Given the description of an element on the screen output the (x, y) to click on. 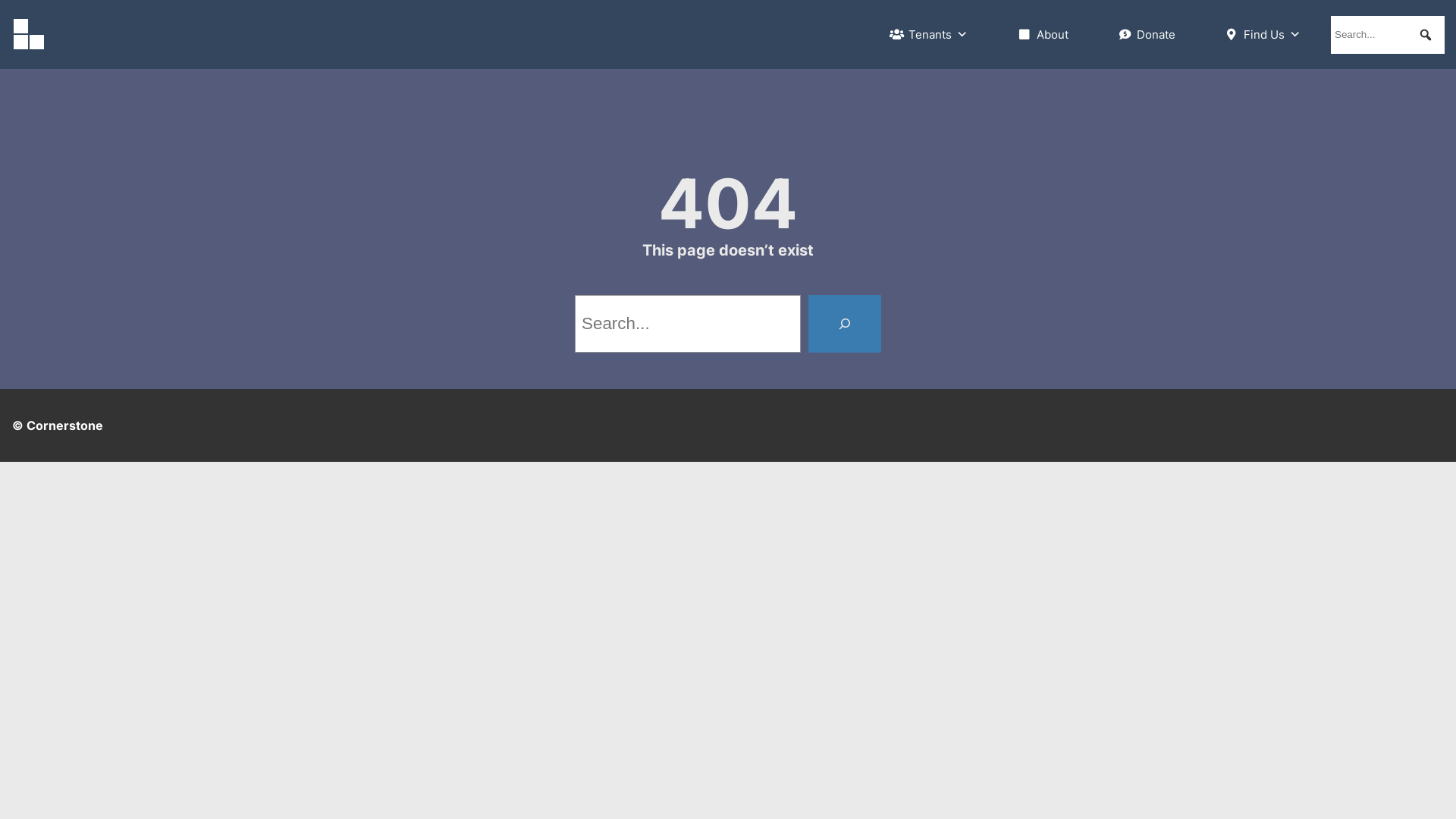
Search Element type: text (21, 7)
Donate Element type: text (1145, 34)
Find Us Element type: text (1262, 34)
Tenants Element type: text (928, 34)
About Element type: text (1041, 34)
